Given the description of an element on the screen output the (x, y) to click on. 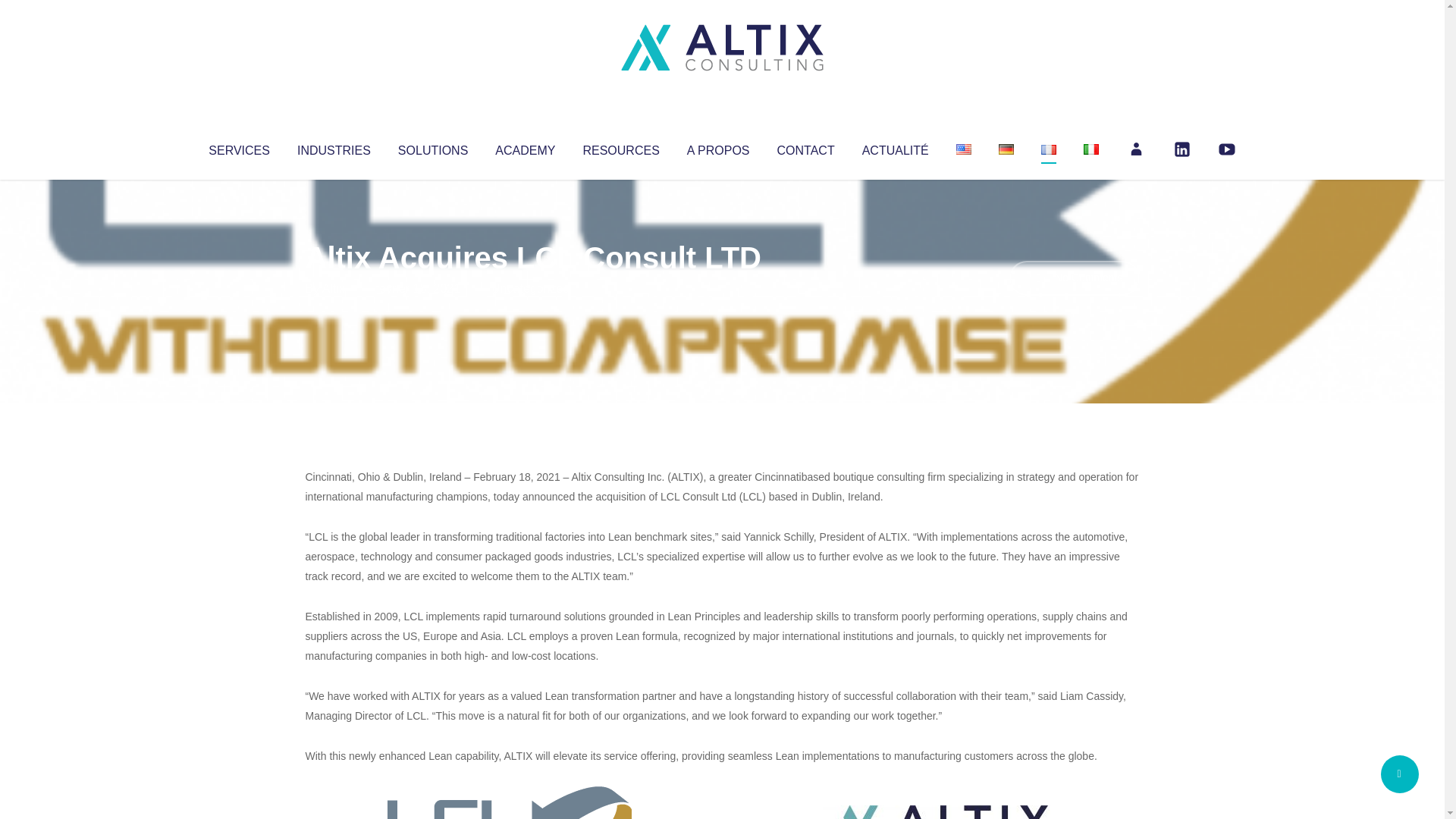
No Comments (1073, 278)
A PROPOS (718, 146)
INDUSTRIES (334, 146)
ACADEMY (524, 146)
Uncategorized (530, 287)
SOLUTIONS (432, 146)
Articles par Altix (333, 287)
SERVICES (238, 146)
Altix (333, 287)
RESOURCES (620, 146)
